Given the description of an element on the screen output the (x, y) to click on. 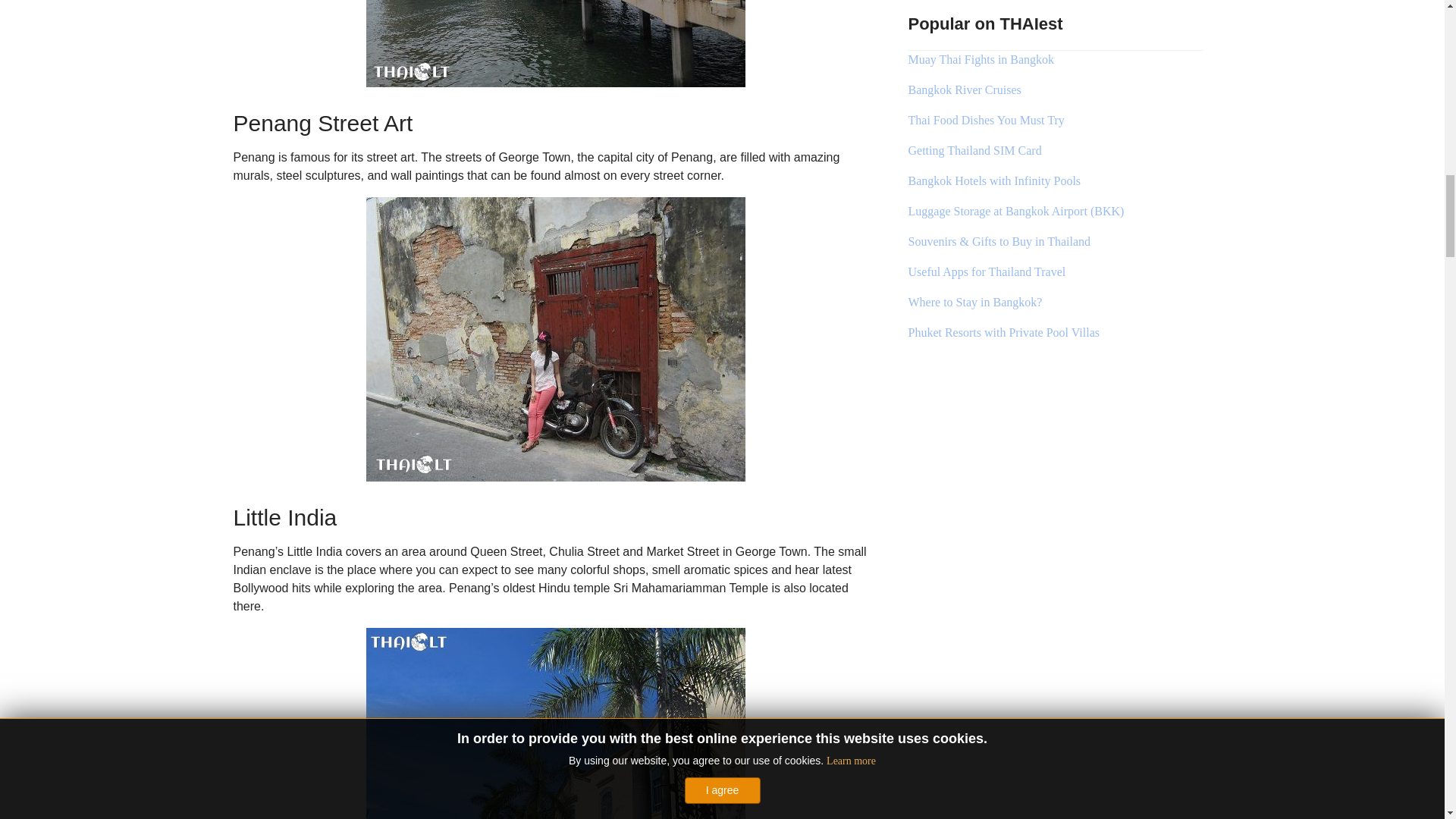
Little India (554, 723)
Georgetown Street Art (554, 339)
Clan Jetties (554, 43)
